Given the description of an element on the screen output the (x, y) to click on. 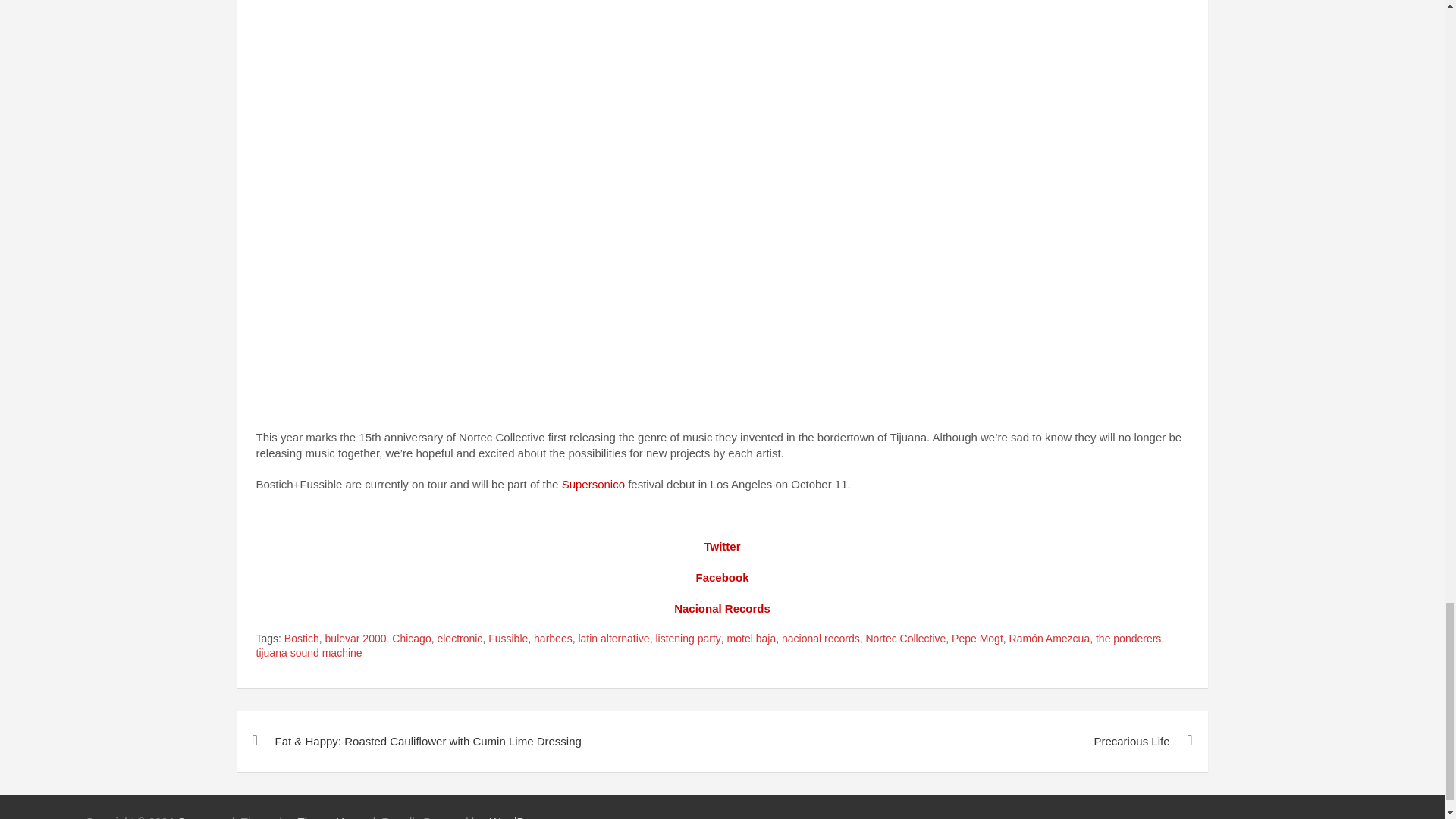
Chicago (410, 639)
Pepe Mogt (977, 639)
tijuana sound machine (309, 653)
Gozamos (201, 816)
Supersonico (593, 483)
harbees (553, 639)
the ponderers (1128, 639)
WordPress (517, 816)
motel baja (751, 639)
Precarious Life (964, 741)
latin alternative (613, 639)
Bostich (300, 639)
Twitter (721, 545)
Nortec Collective (904, 639)
Nacional Records (722, 608)
